Given the description of an element on the screen output the (x, y) to click on. 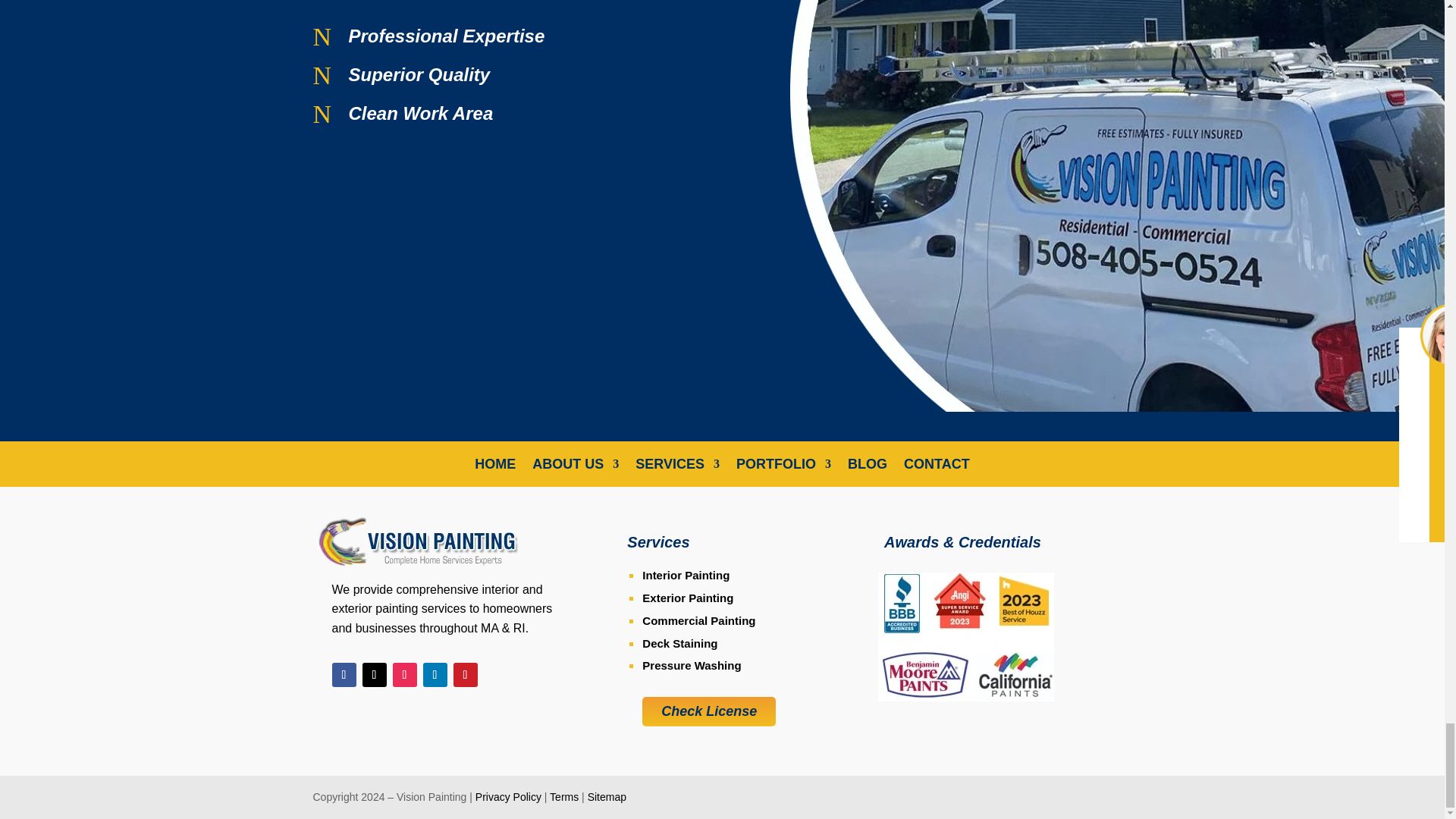
HOME (494, 466)
vision72 (417, 541)
Follow on Facebook (343, 674)
ABOUT US (575, 466)
